Given the description of an element on the screen output the (x, y) to click on. 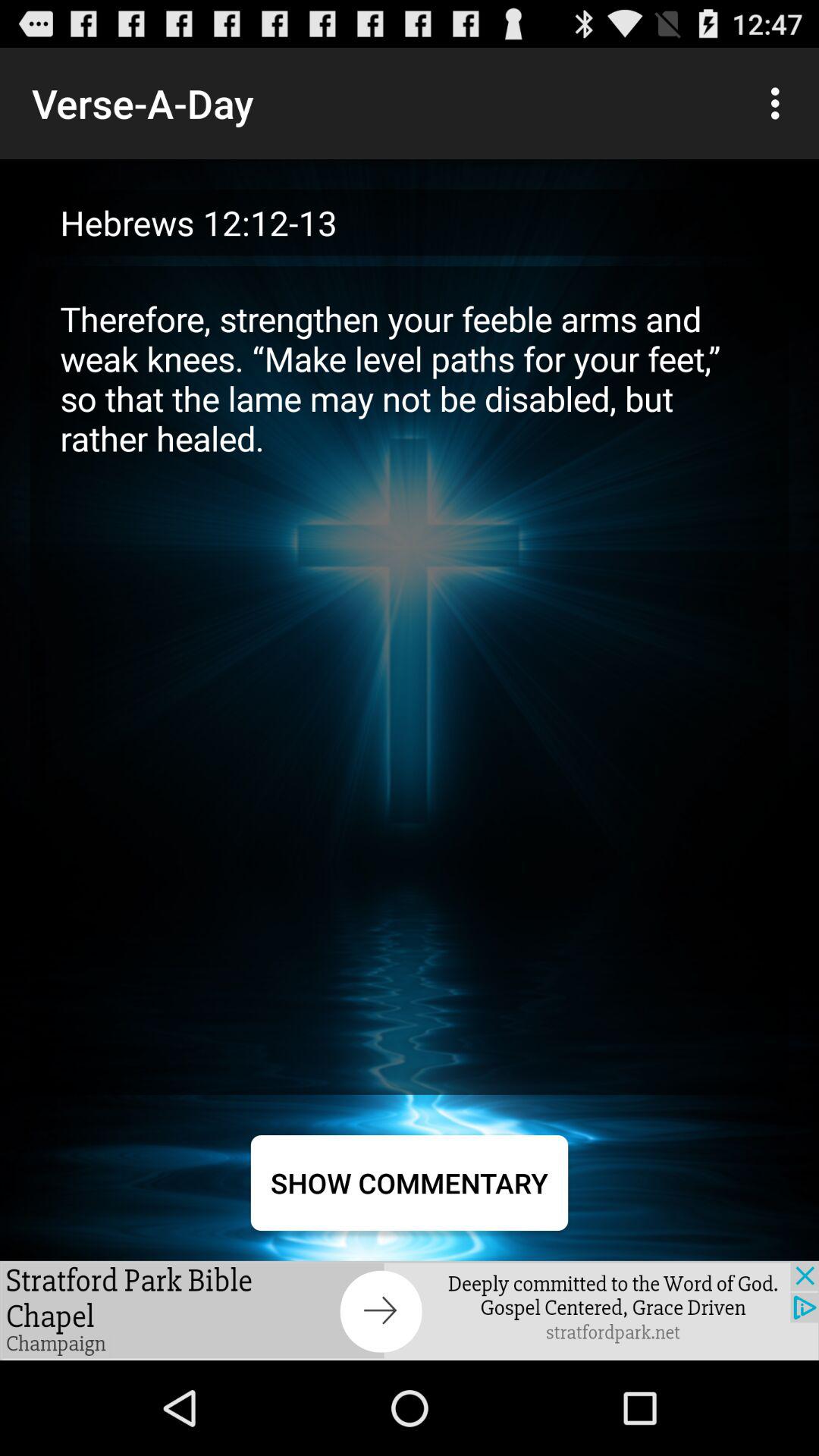
launch item next to verse-a-day item (779, 103)
